Given the description of an element on the screen output the (x, y) to click on. 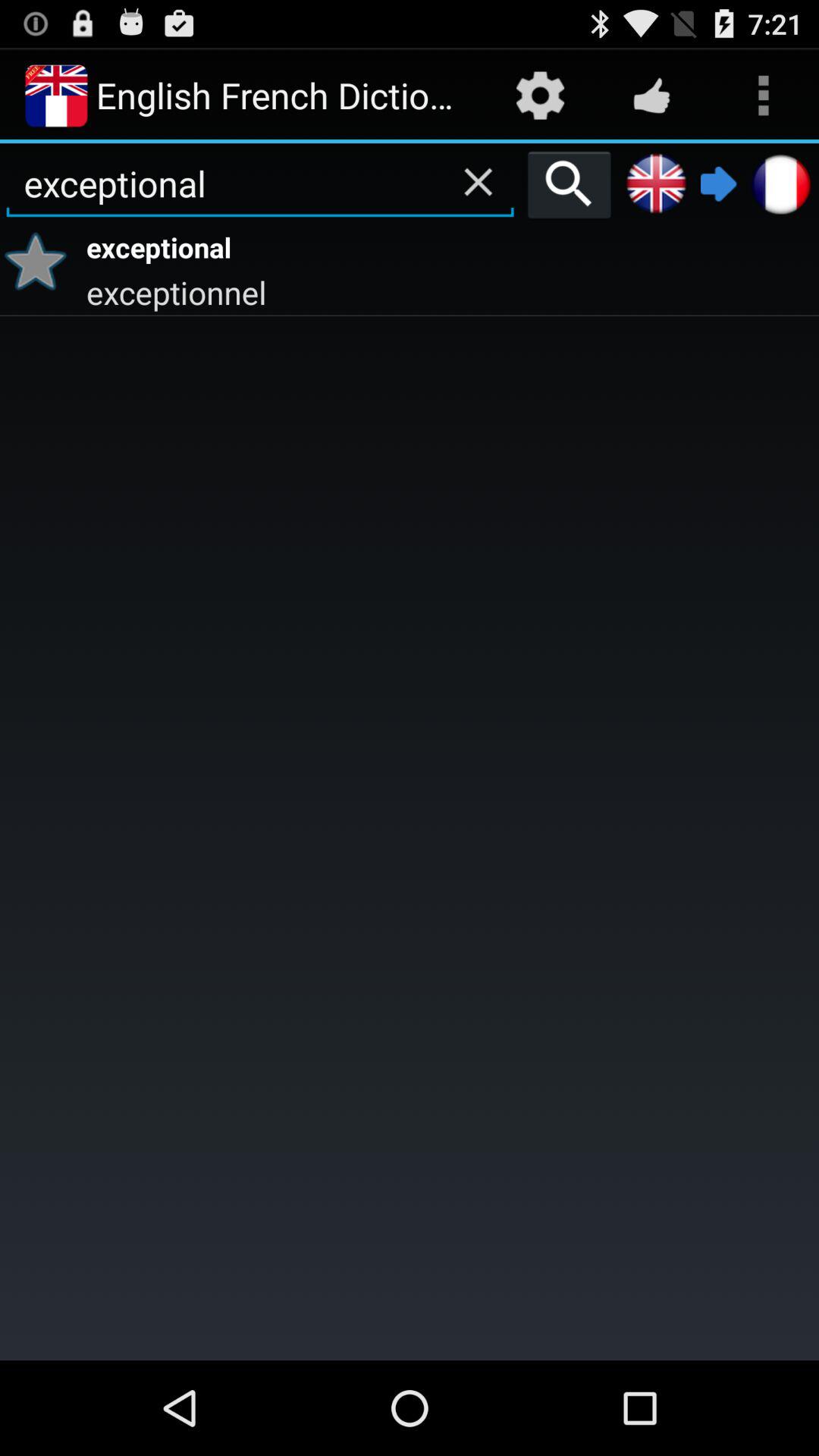
launch the item above the exceptional item (569, 184)
